Given the description of an element on the screen output the (x, y) to click on. 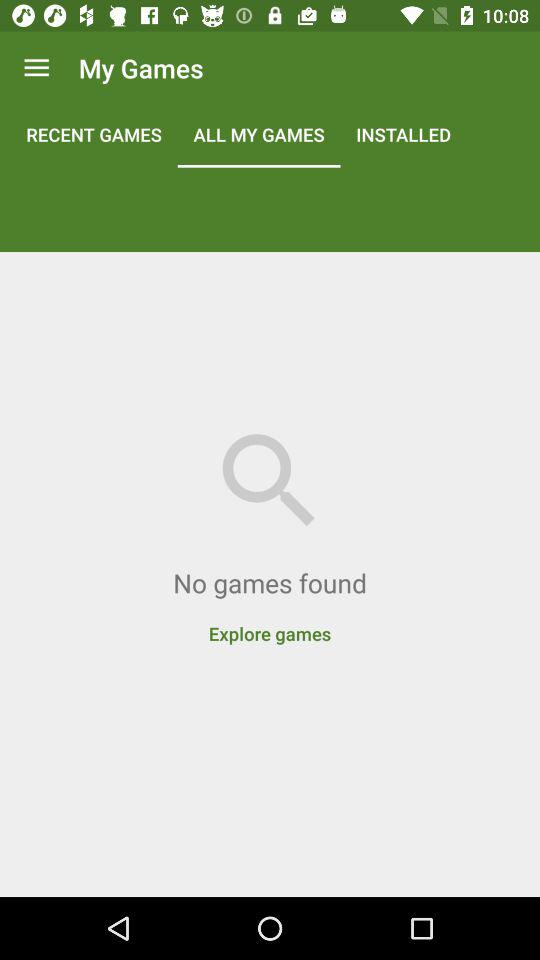
open explore games (270, 623)
